Given the description of an element on the screen output the (x, y) to click on. 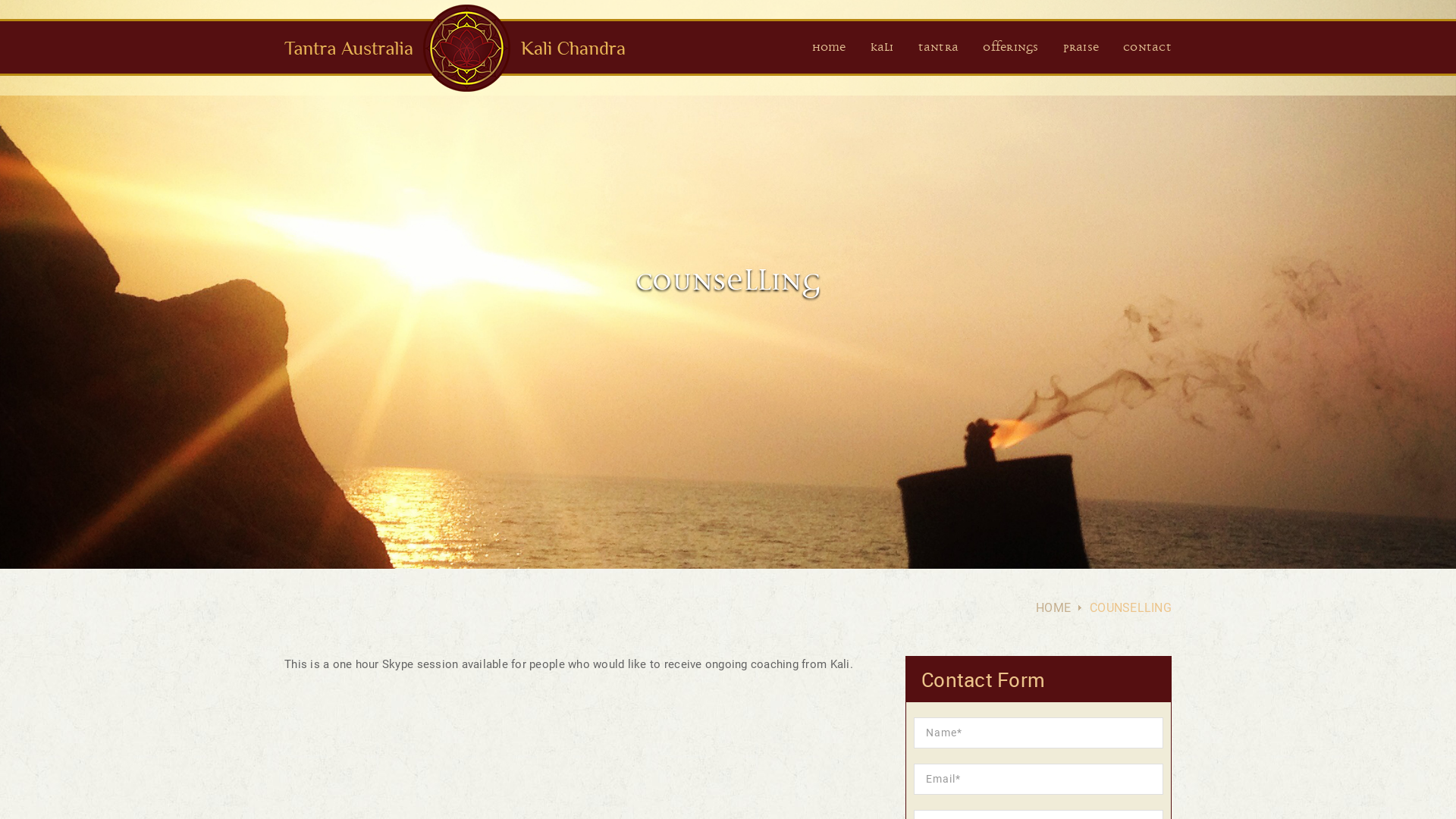
CONTACT Element type: text (1147, 48)
KALI Element type: text (882, 48)
OFFERINGS Element type: text (1010, 48)
HOME Element type: text (1052, 607)
HOME Element type: text (829, 48)
TANTRA Element type: text (938, 48)
PRAISE Element type: text (1081, 48)
